Given the description of an element on the screen output the (x, y) to click on. 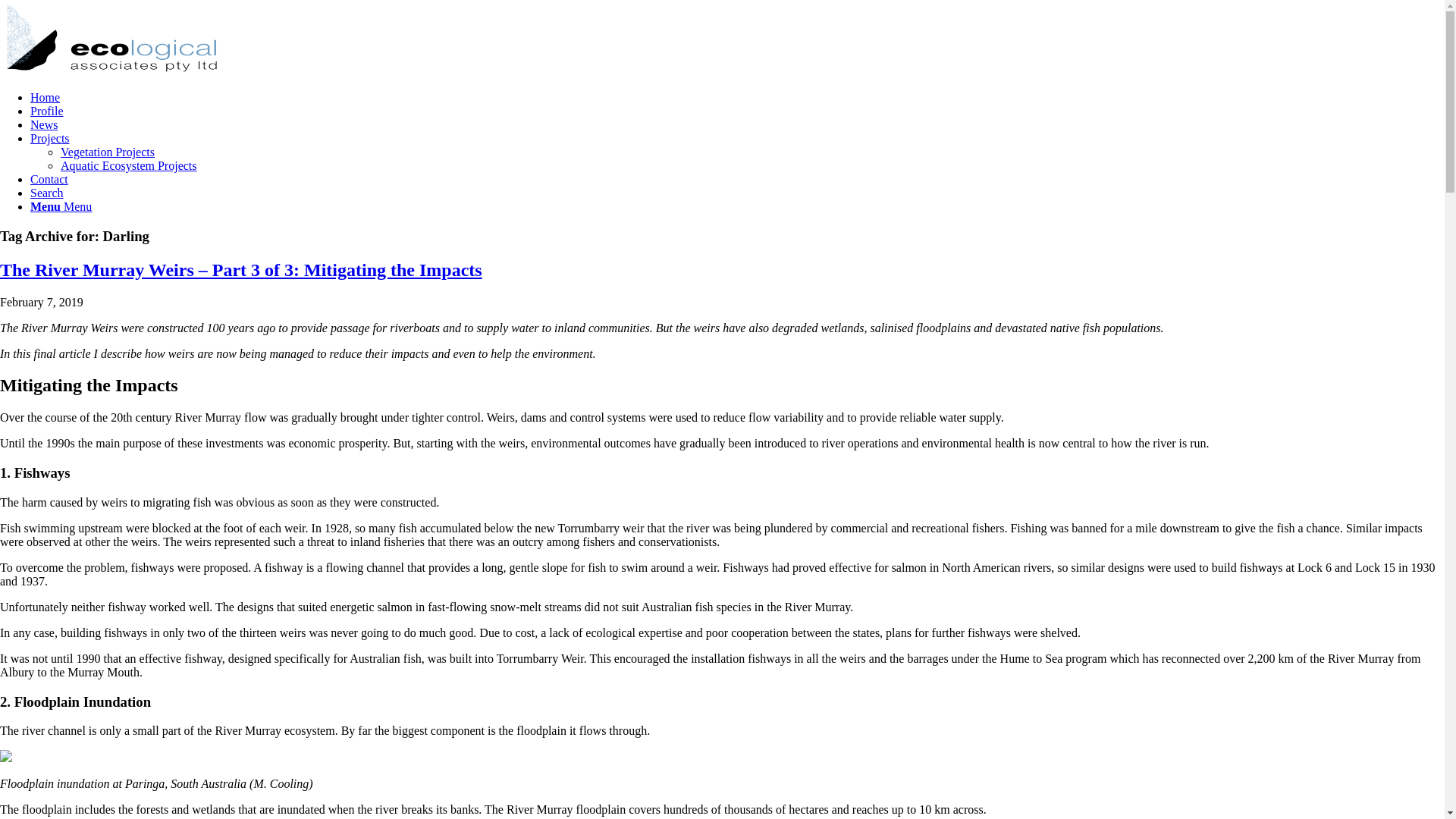
Projects Element type: text (49, 137)
Menu Menu Element type: text (60, 206)
Home Element type: text (44, 97)
Aquatic Ecosystem Projects Element type: text (128, 165)
combined-logo Element type: hover (113, 37)
Search Element type: text (46, 192)
Profile Element type: text (46, 110)
Vegetation Projects Element type: text (107, 151)
Contact Element type: text (49, 178)
News Element type: text (43, 124)
